Given the description of an element on the screen output the (x, y) to click on. 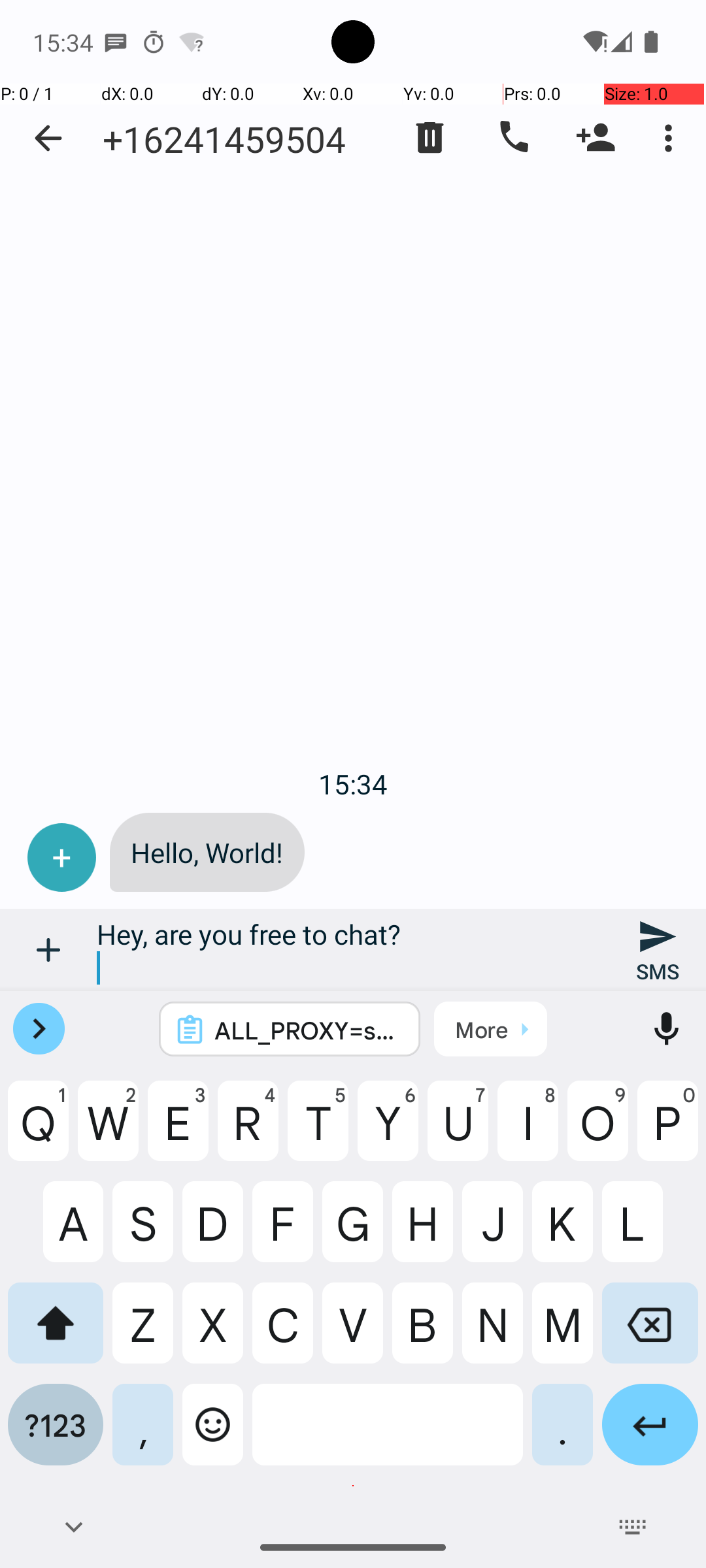
+16241459504 Element type: android.widget.TextView (223, 138)
Hey, are you free to chat?
 Element type: android.widget.EditText (352, 949)
Hello, World! Element type: android.widget.TextView (206, 851)
